Given the description of an element on the screen output the (x, y) to click on. 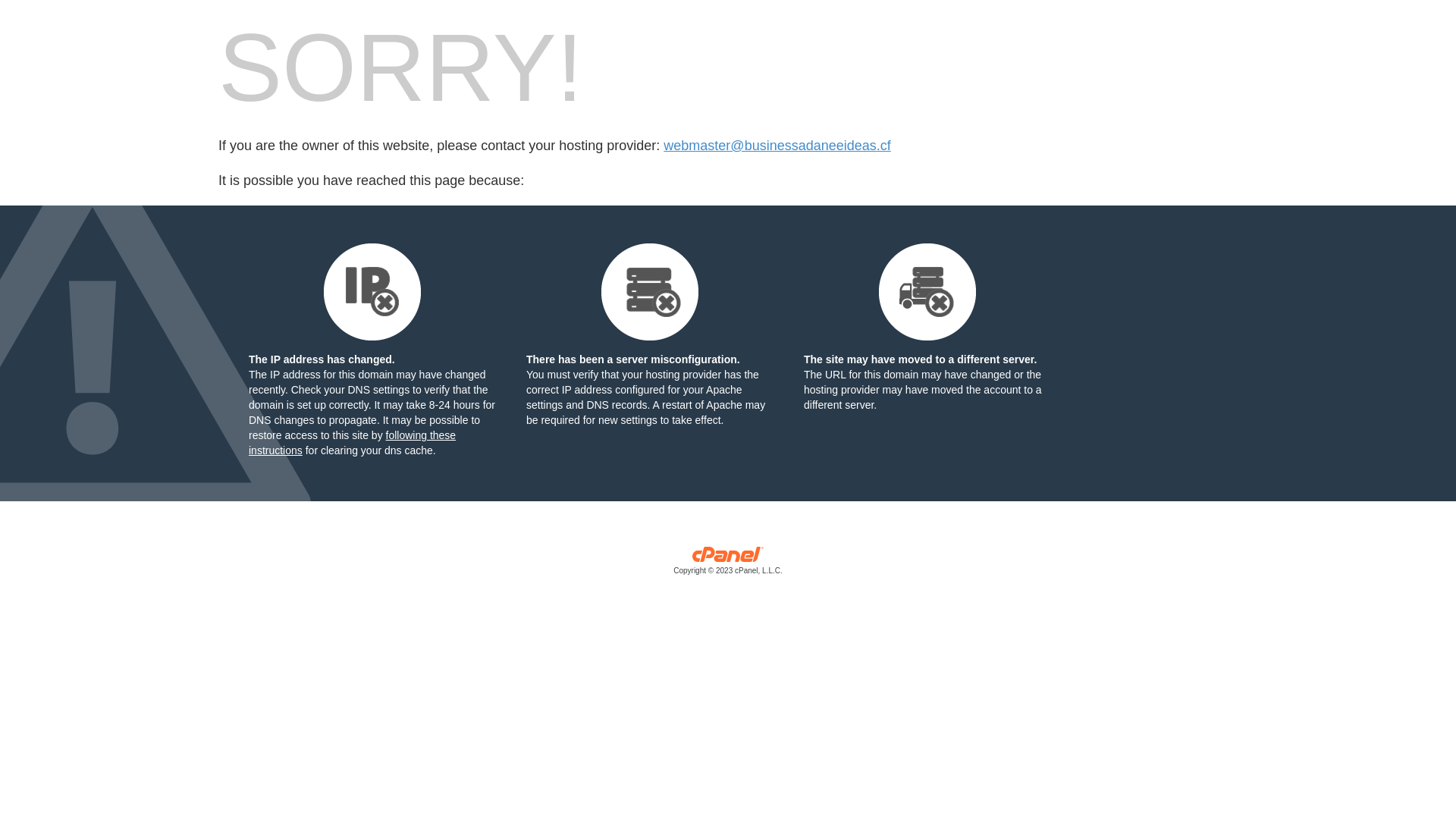
webmaster@businessadaneeideas.cf Element type: text (776, 145)
following these instructions Element type: text (351, 442)
